Given the description of an element on the screen output the (x, y) to click on. 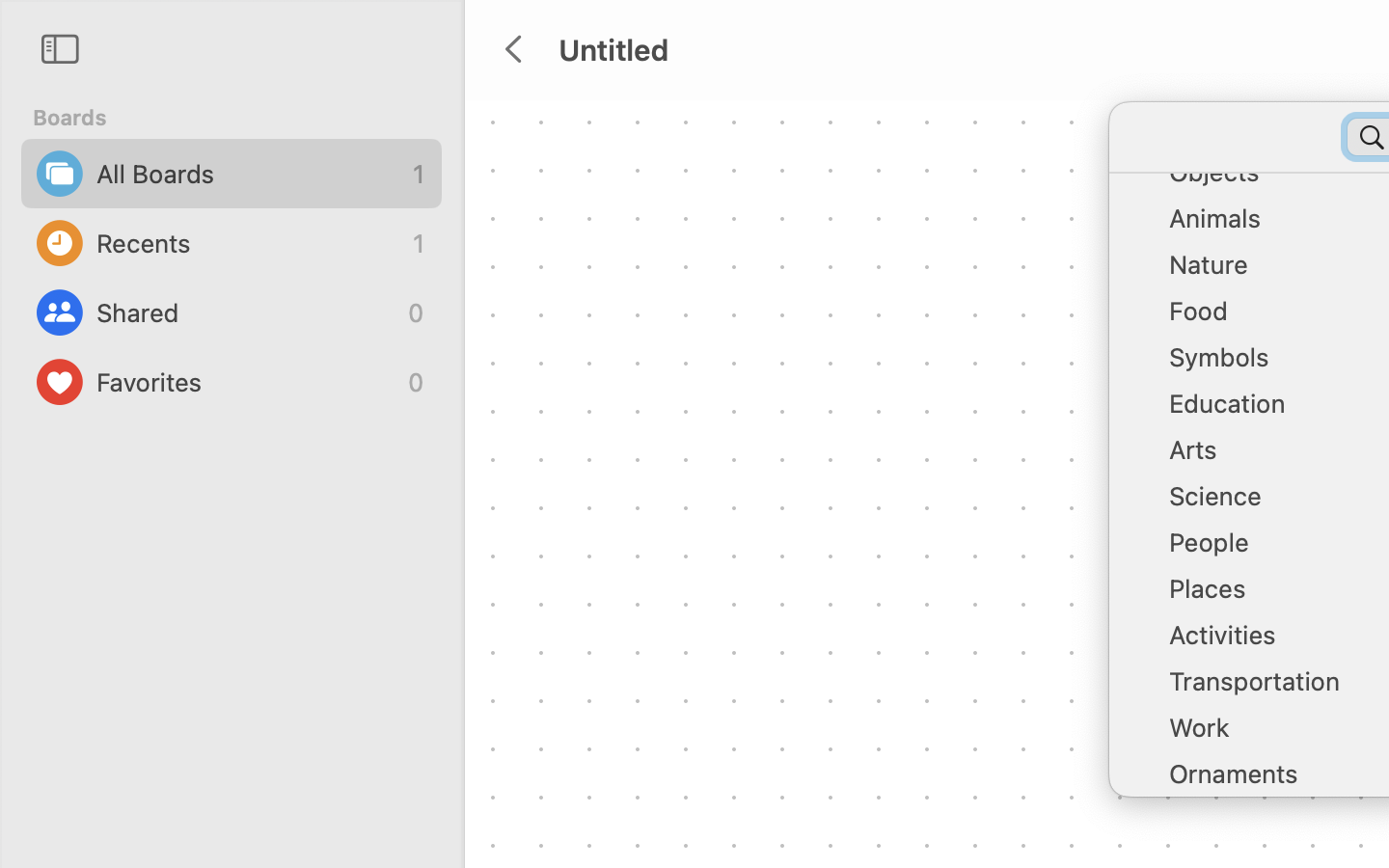
Arts Element type: AXStaticText (1273, 457)
Activities Element type: AXStaticText (1273, 642)
Untitled Element type: AXStaticText (612, 48)
Ornaments Element type: AXStaticText (1273, 781)
All Boards Element type: AXStaticText (249, 173)
